Given the description of an element on the screen output the (x, y) to click on. 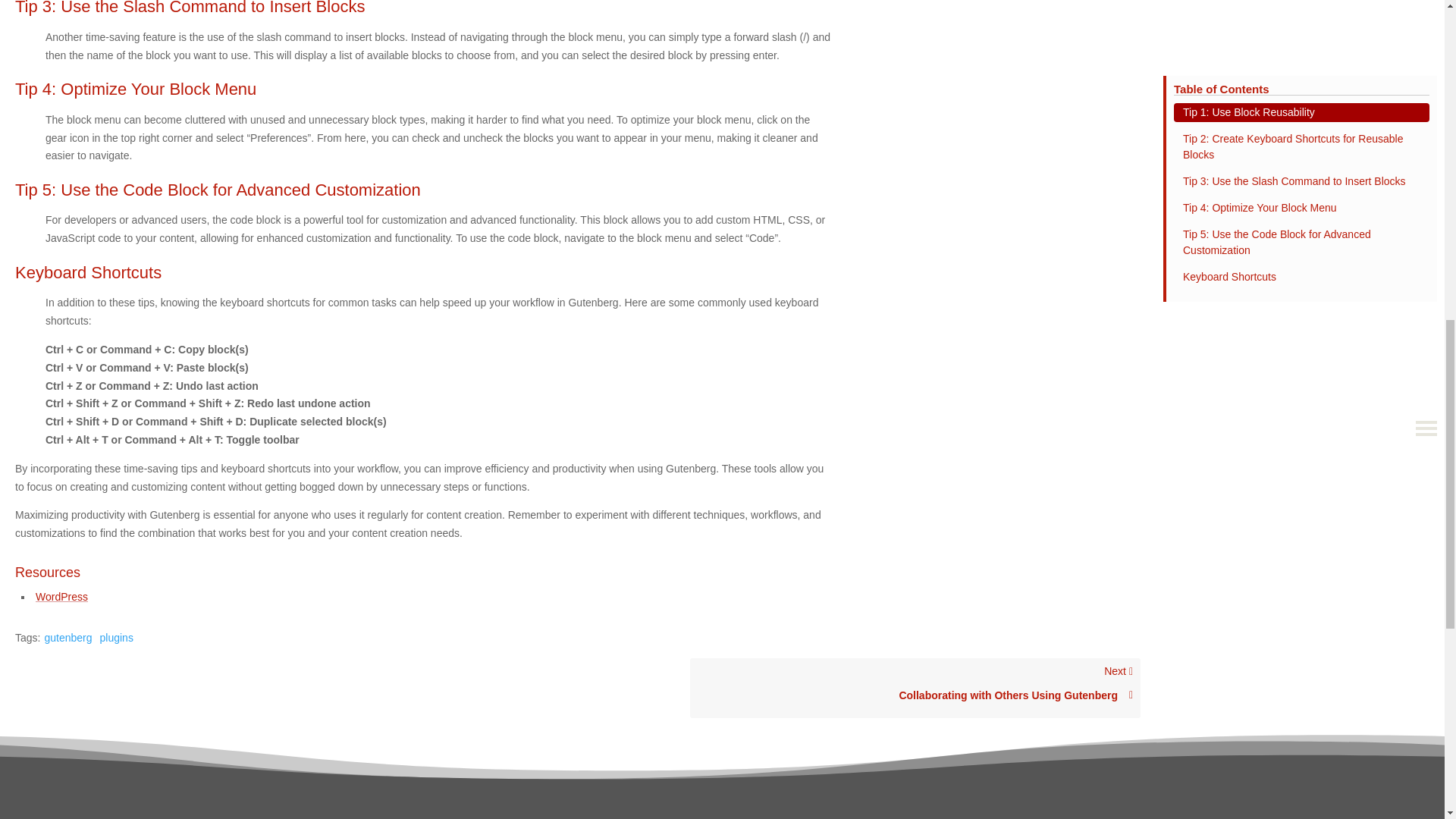
Collaborating with Others Using Gutenberg (914, 695)
WordPress (915, 688)
gutenberg (60, 596)
plugins (67, 637)
WordPress (116, 637)
